Given the description of an element on the screen output the (x, y) to click on. 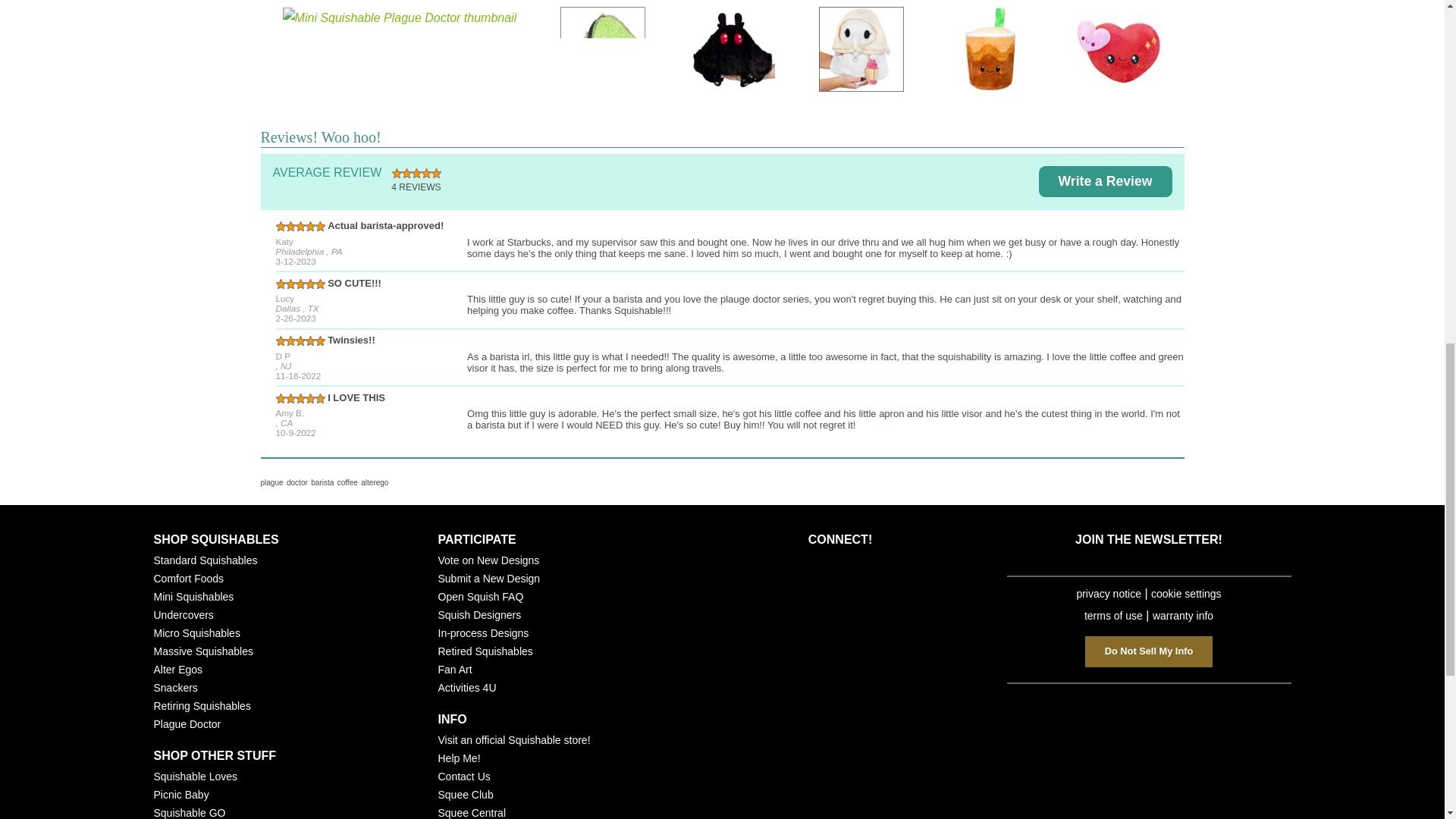
Mini Squishable Plague Doctor (399, 48)
